Given the description of an element on the screen output the (x, y) to click on. 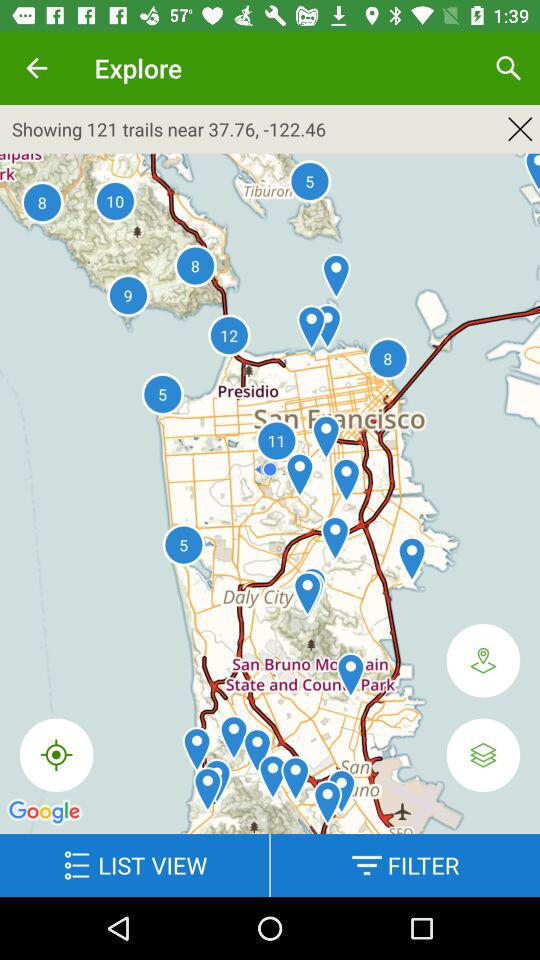
click icon to the left of explore item (36, 68)
